Given the description of an element on the screen output the (x, y) to click on. 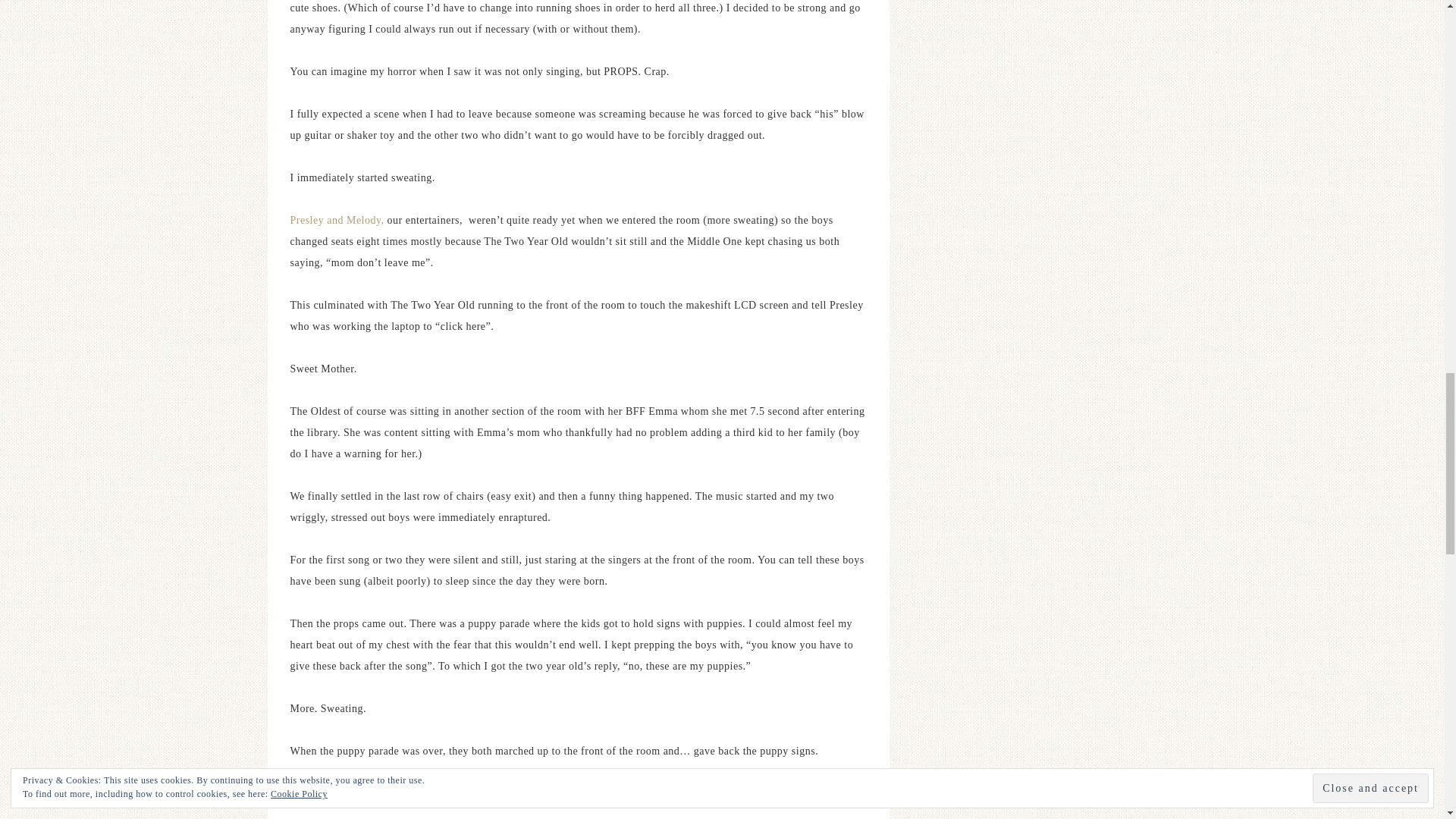
Presley and Melody, (336, 220)
